Given the description of an element on the screen output the (x, y) to click on. 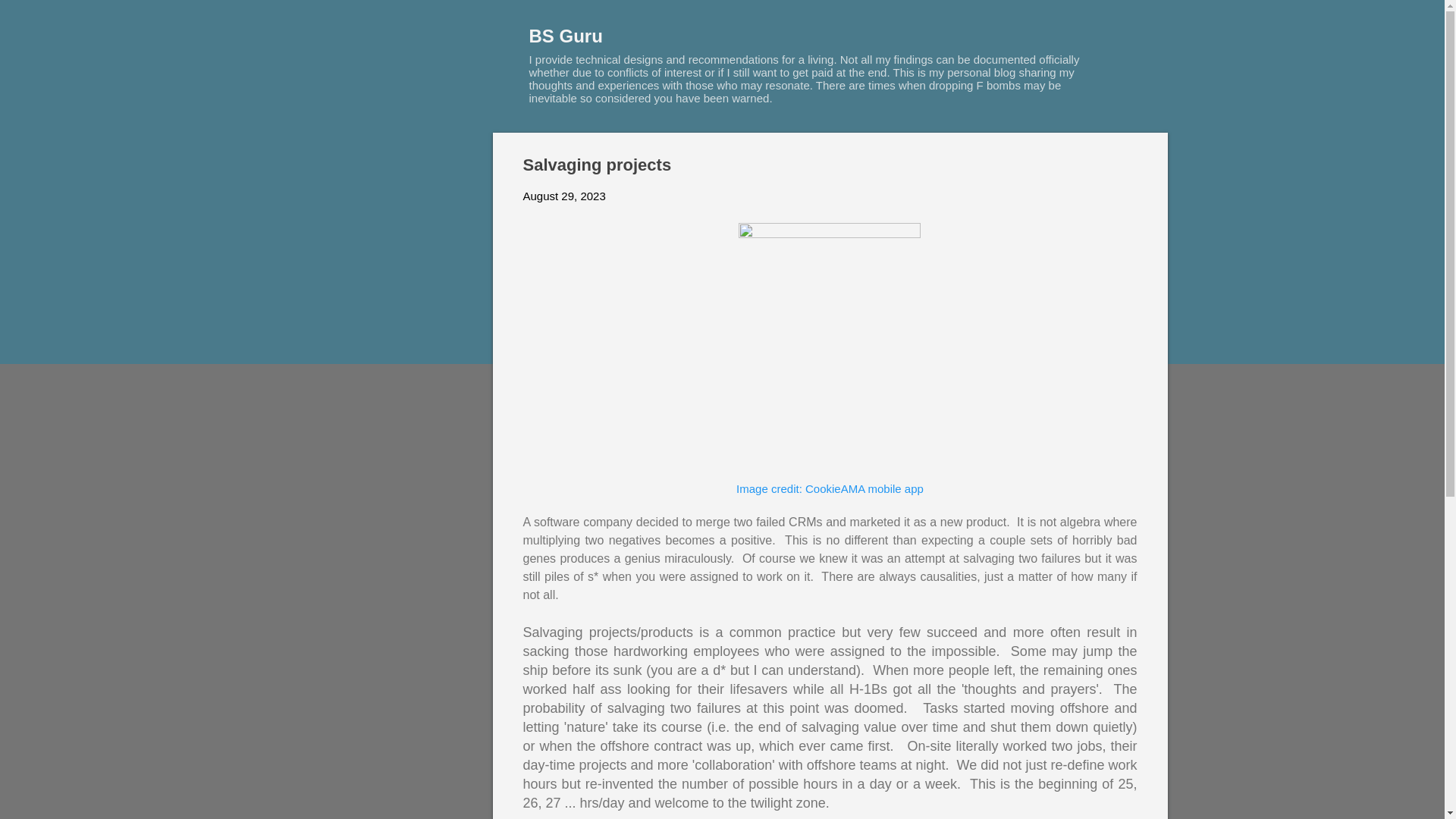
August 29, 2023 (563, 195)
BS Guru (565, 35)
Image credit: CookieAMA mobile app (829, 488)
permanent link (563, 195)
